Given the description of an element on the screen output the (x, y) to click on. 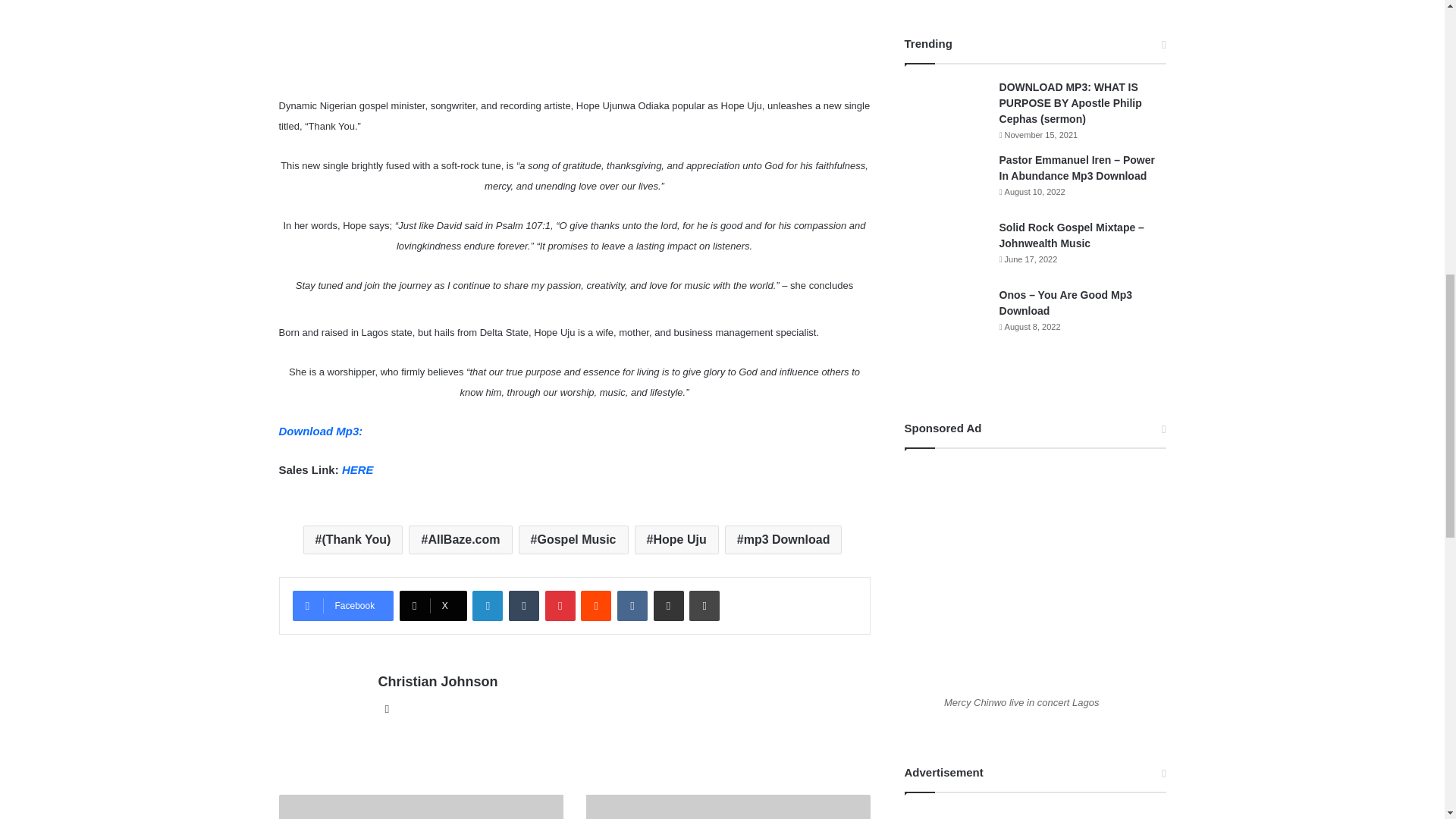
Reddit (595, 605)
LinkedIn (486, 605)
VKontakte (632, 605)
Hope Uju (676, 539)
AllBaze.com (460, 539)
Tumblr (523, 605)
X (432, 605)
Print (703, 605)
Download Mp3:  (322, 431)
Pinterest (559, 605)
Gospel Music (573, 539)
HERE (358, 469)
Facebook (343, 605)
Advertisement (574, 43)
Share via Email (668, 605)
